Given the description of an element on the screen output the (x, y) to click on. 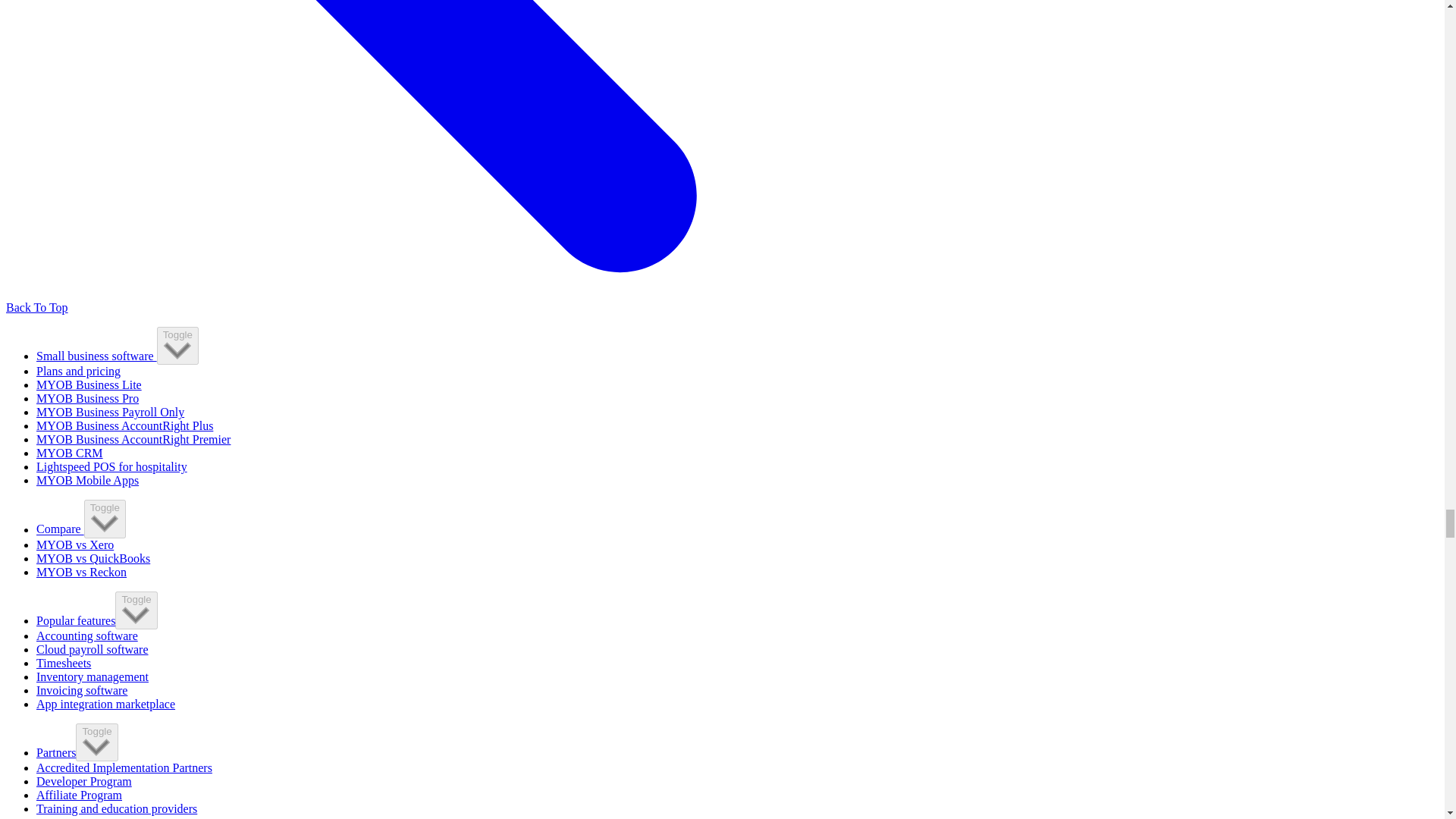
Chevron down (104, 523)
Chevron down (135, 614)
Chevron down (177, 350)
Chevron down (96, 746)
